Given the description of an element on the screen output the (x, y) to click on. 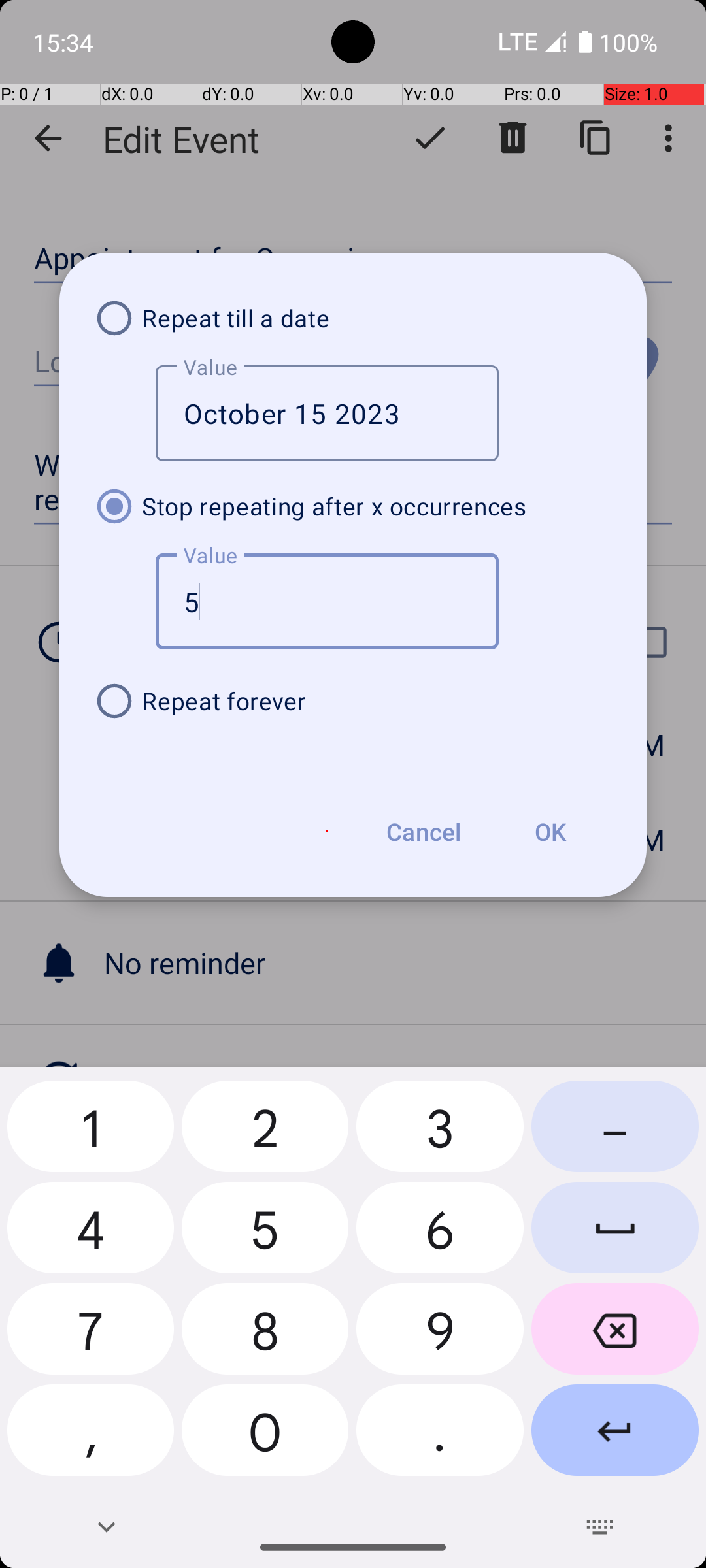
Repeat till a date Element type: android.widget.RadioButton (352, 318)
October 15 2023 Element type: android.widget.EditText (326, 413)
Stop repeating after x occurrences Element type: android.widget.RadioButton (352, 506)
Repeat forever Element type: android.widget.RadioButton (352, 700)
